Given the description of an element on the screen output the (x, y) to click on. 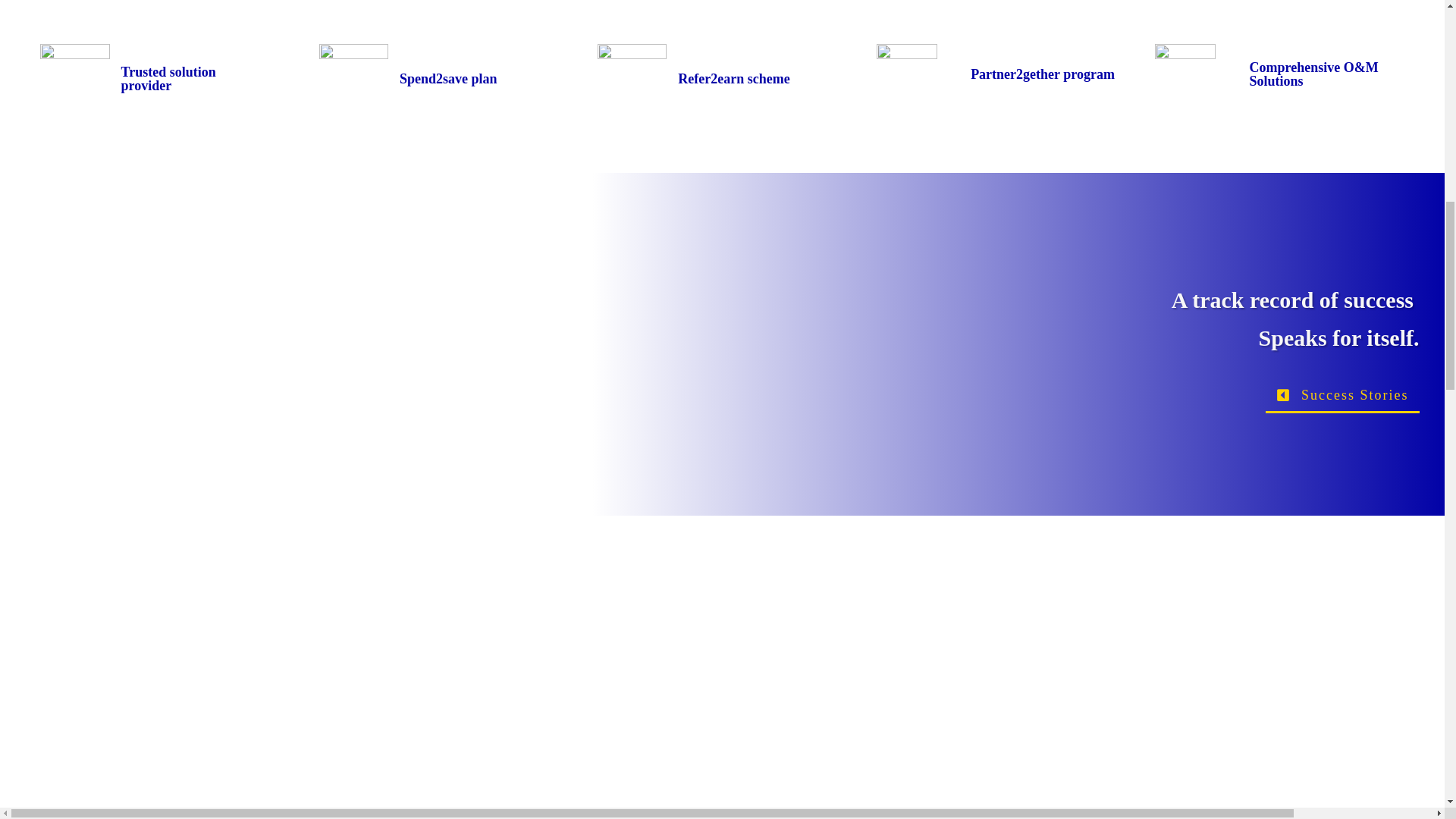
save money 2 (353, 78)
Success Stories (1342, 395)
network together (906, 74)
solar maintenance (1184, 74)
earn money (631, 78)
favicon-v1 (74, 78)
